Given the description of an element on the screen output the (x, y) to click on. 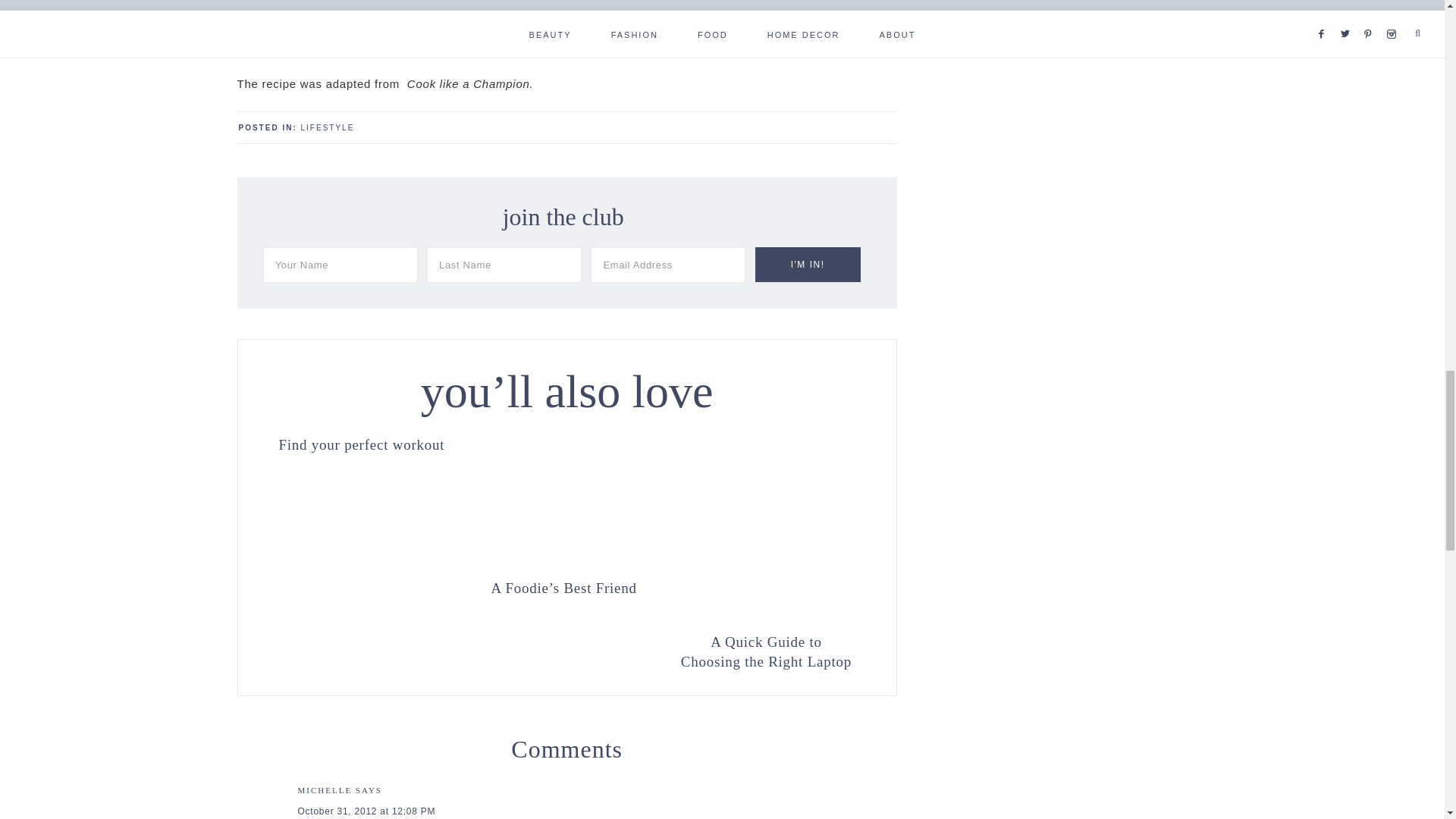
Permanent Link to A Quick Guide to Choosing the Right Laptop (766, 650)
A Quick Guide to Choosing the Right Laptop (766, 650)
October 31, 2012 at 12:08 PM (366, 810)
I'm In! (807, 264)
Find your perfect workout (361, 443)
I'm In! (807, 264)
LIFESTYLE (328, 127)
Permanent Link to A Quick Guide to Choosing the Right Laptop (766, 617)
Permanent Link to Find your perfect workout (361, 443)
